Given the description of an element on the screen output the (x, y) to click on. 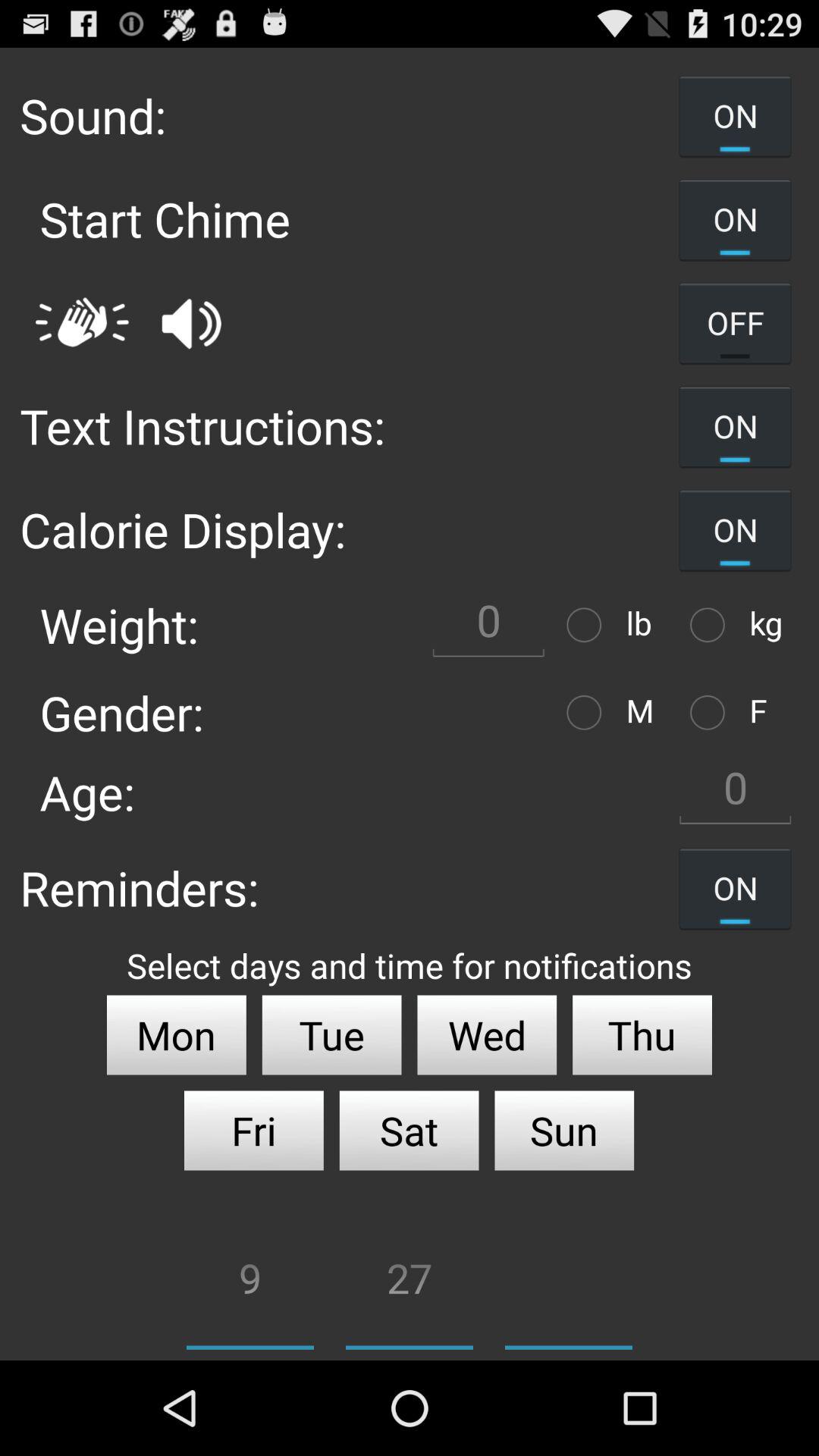
clicks female (711, 712)
